Given the description of an element on the screen output the (x, y) to click on. 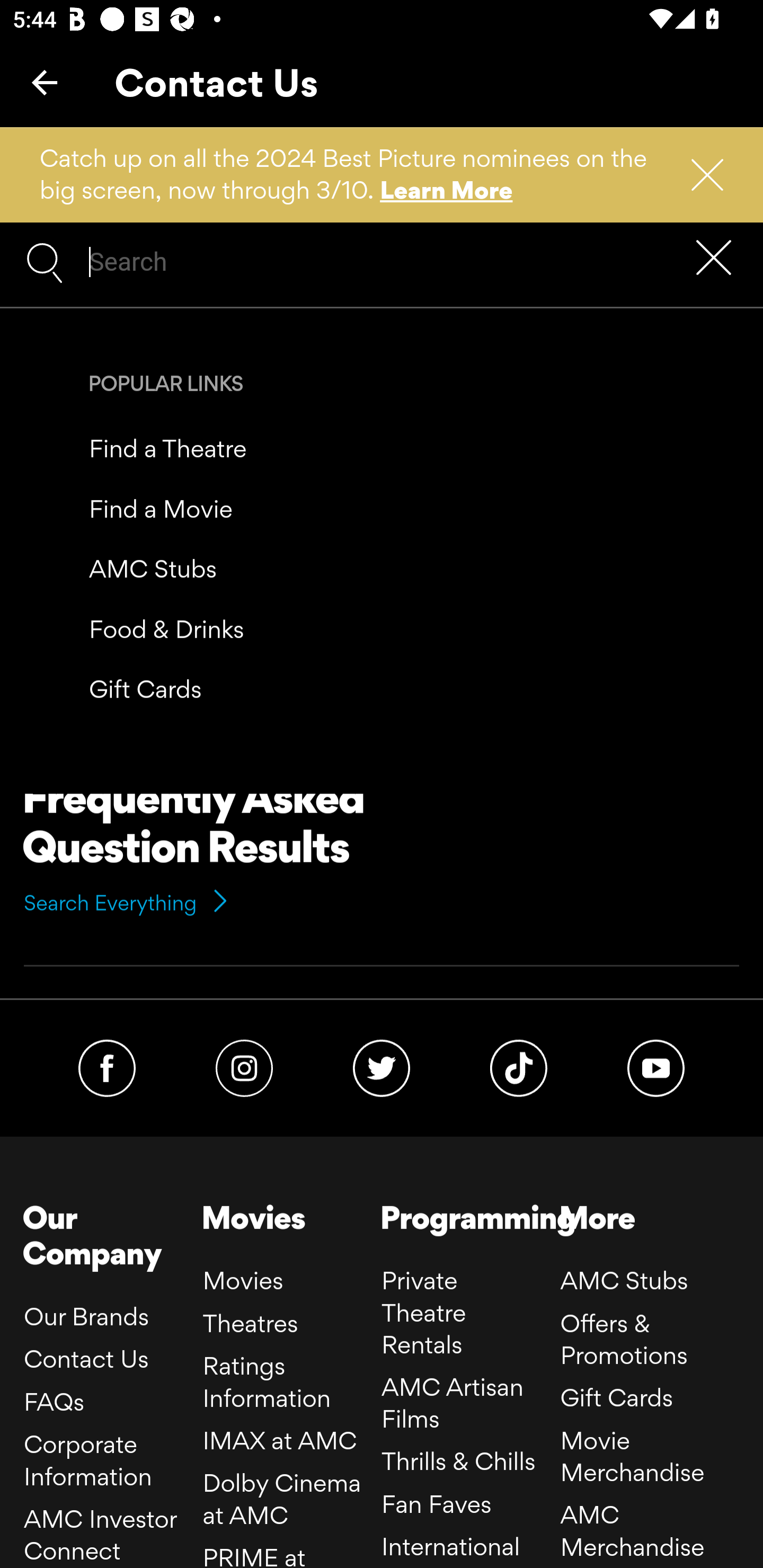
Back (44, 82)
Dismiss Notification (699, 174)
Learn More (446, 189)
Close (718, 258)
Find a Theatre (168, 448)
Find a Movie (161, 507)
AMC Stubs (153, 568)
Food & Drinks (166, 628)
Gift Cards (145, 689)
Search Everything (127, 903)
AMC Facebook (106, 1067)
AMC Instagram (243, 1067)
AMC Twitter (380, 1067)
AMC Tiktok (518, 1067)
AMC Youtube (655, 1067)
Movies (243, 1280)
Private Theatre Rentals (423, 1313)
AMC Stubs (623, 1280)
Our Brands (86, 1315)
Theatres (250, 1322)
Offers & Promotions (623, 1339)
Contact Us (86, 1358)
Ratings Information (266, 1381)
AMC Artisan Films (452, 1403)
Gift Cards (616, 1397)
FAQs (54, 1401)
IMAX at AMC (279, 1439)
Movie Merchandise (632, 1455)
Corporate Information (87, 1460)
Thrills & Chills (458, 1461)
Dolby Cinema at AMC (282, 1498)
Fan Faves (436, 1503)
AMC Merchandise (632, 1530)
AMC Investor Connect (100, 1534)
International Films (451, 1549)
PRIME at AMC (254, 1554)
